Given the description of an element on the screen output the (x, y) to click on. 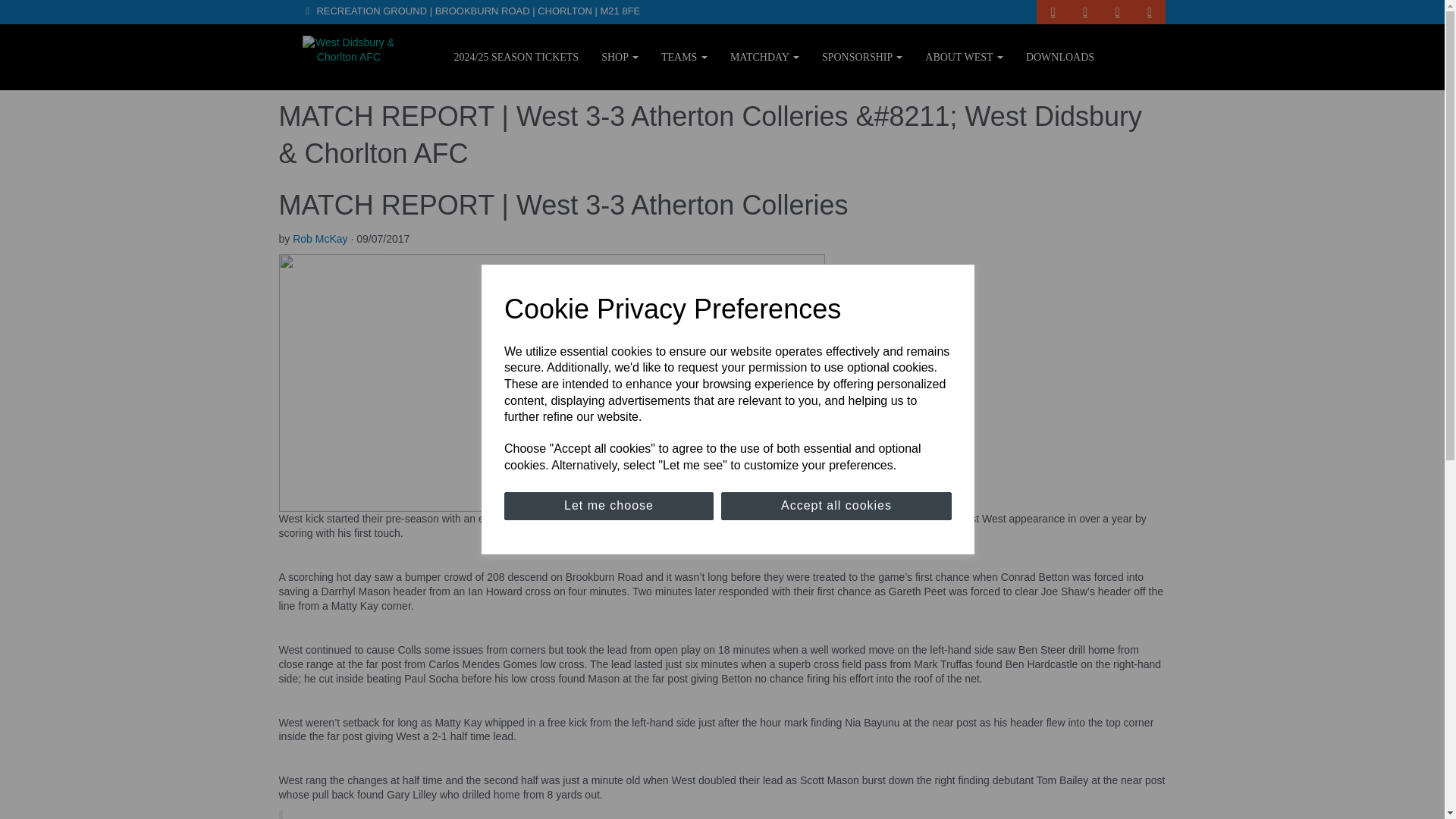
MATCHDAY (764, 56)
TEAMS (684, 56)
Accept all cookies (836, 506)
SHOP (619, 56)
Posts by Rob McKay (319, 238)
Let me choose (608, 506)
